Given the description of an element on the screen output the (x, y) to click on. 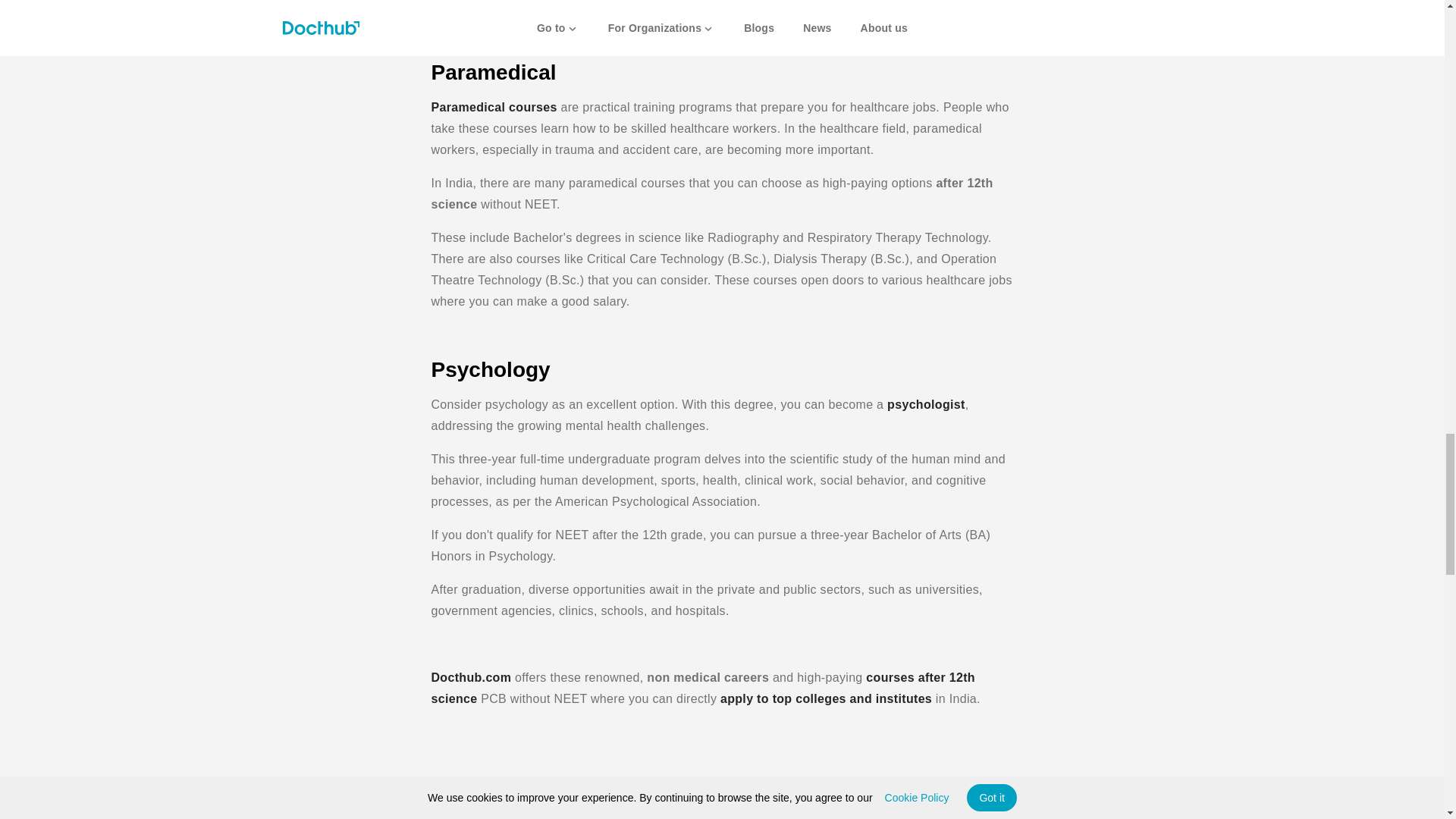
Docthub.com (470, 676)
courses after 12th science (702, 687)
apply to top colleges and institutes (825, 698)
psychologist (925, 404)
Paramedical courses (493, 106)
